Given the description of an element on the screen output the (x, y) to click on. 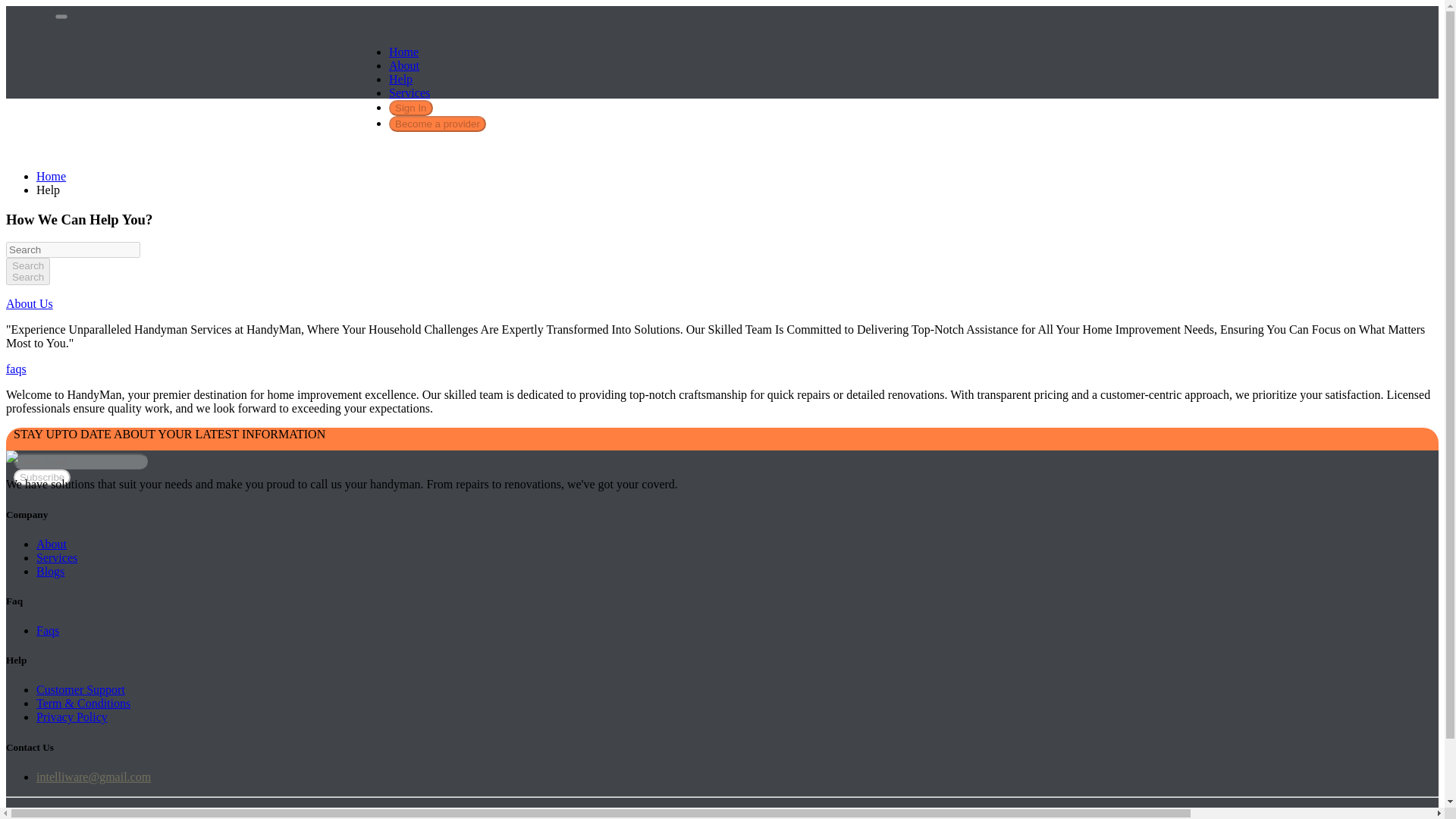
Sign In (410, 106)
About Us (28, 303)
faqs (27, 271)
Blogs (15, 368)
Home (50, 571)
Subscribe (50, 175)
Become a provider (41, 477)
About (437, 123)
Customer Support (403, 65)
